Given the description of an element on the screen output the (x, y) to click on. 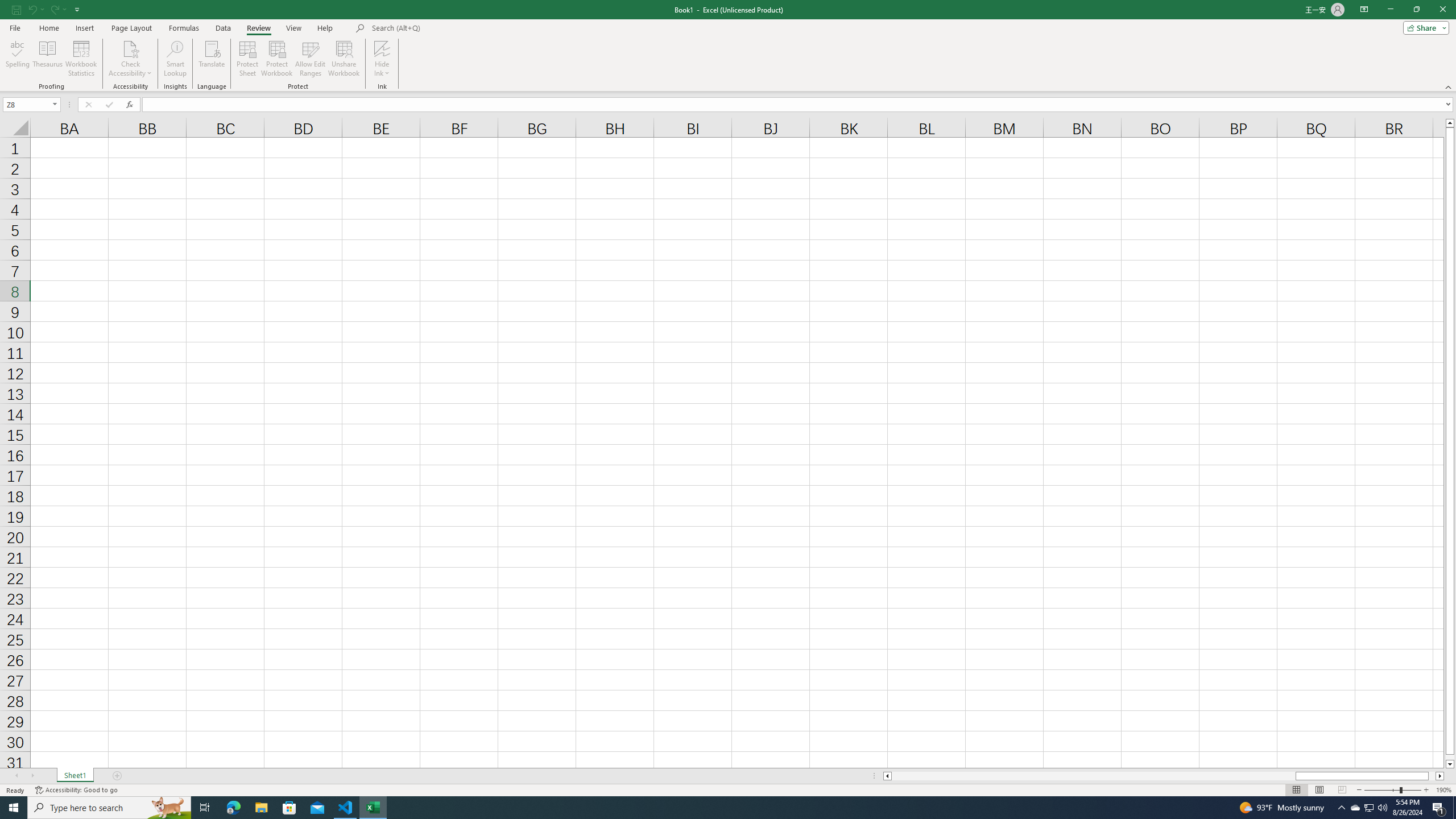
Spelling... (17, 58)
Workbook Statistics (81, 58)
